Given the description of an element on the screen output the (x, y) to click on. 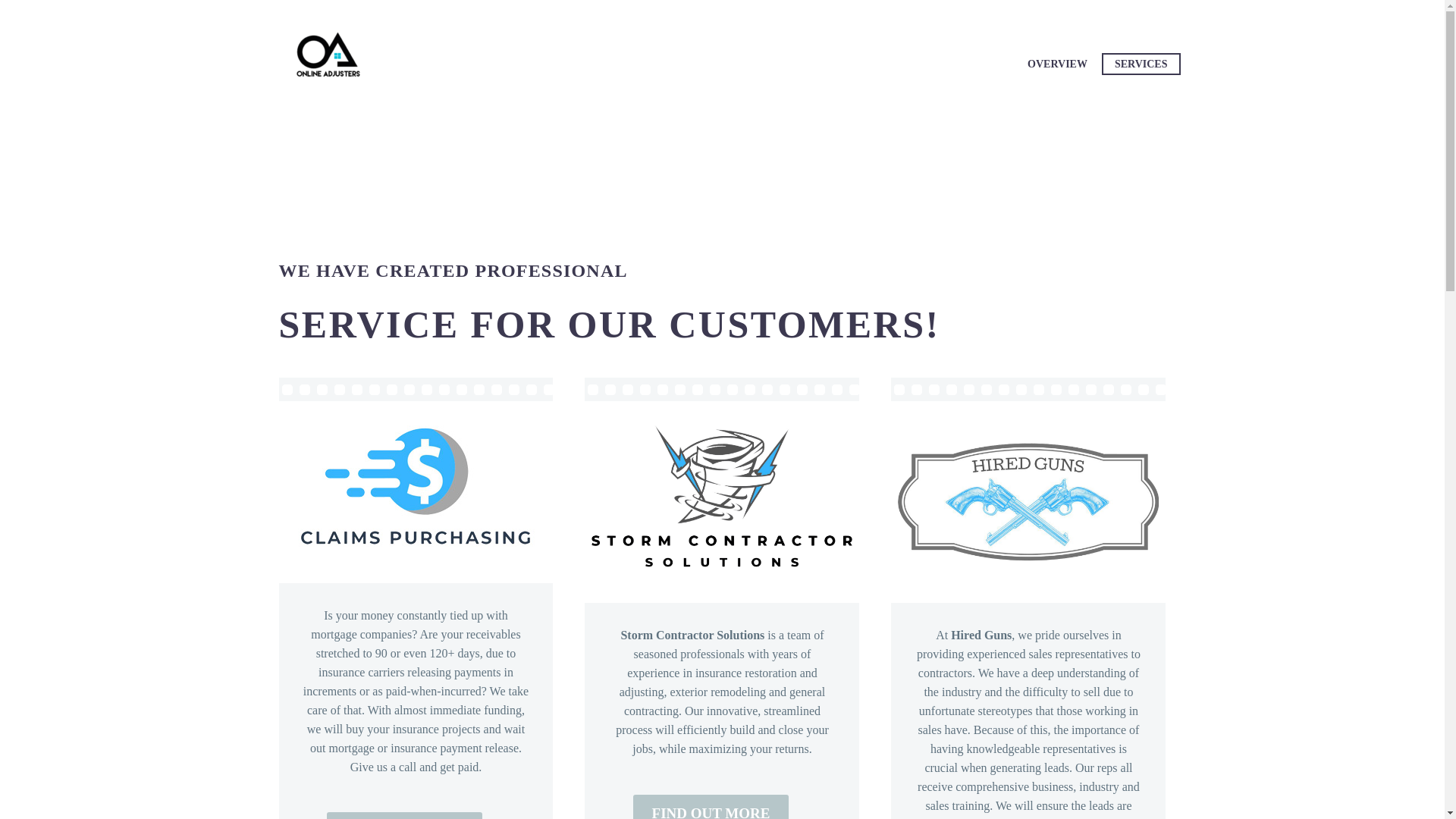
FIND OUT MORE (404, 815)
OVERVIEW (1057, 63)
SERVICES (1141, 64)
FIND OUT MORE (711, 806)
